Given the description of an element on the screen output the (x, y) to click on. 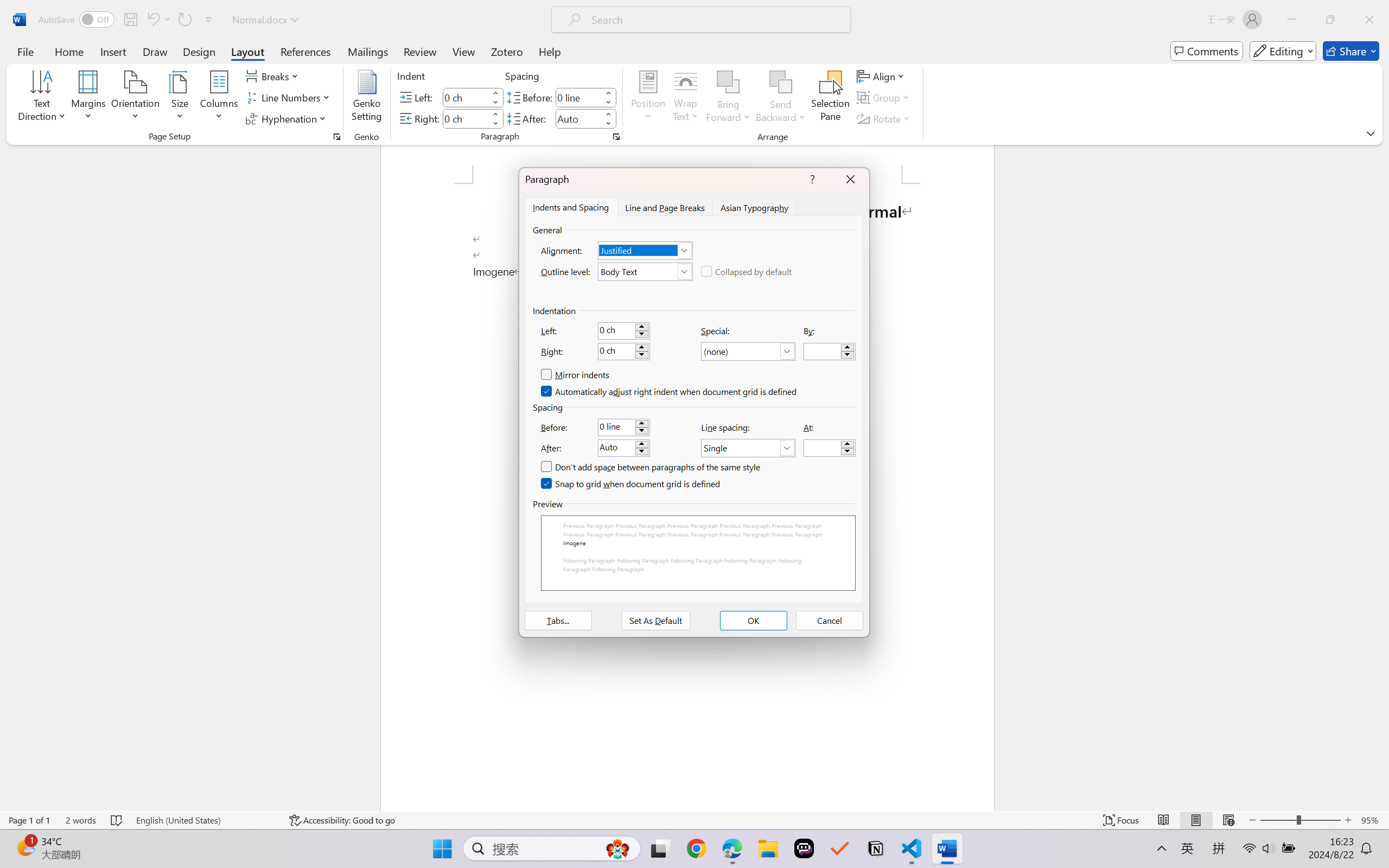
Set As Default (655, 620)
By: (829, 351)
Snap to grid when document grid is defined (631, 483)
Paragraph... (615, 136)
After: (623, 447)
Line spacing: (748, 448)
Selection Pane... (830, 97)
Indents and Spacing (570, 206)
Undo Paragraph Formatting (152, 19)
Line and Page Breaks (664, 206)
